Given the description of an element on the screen output the (x, y) to click on. 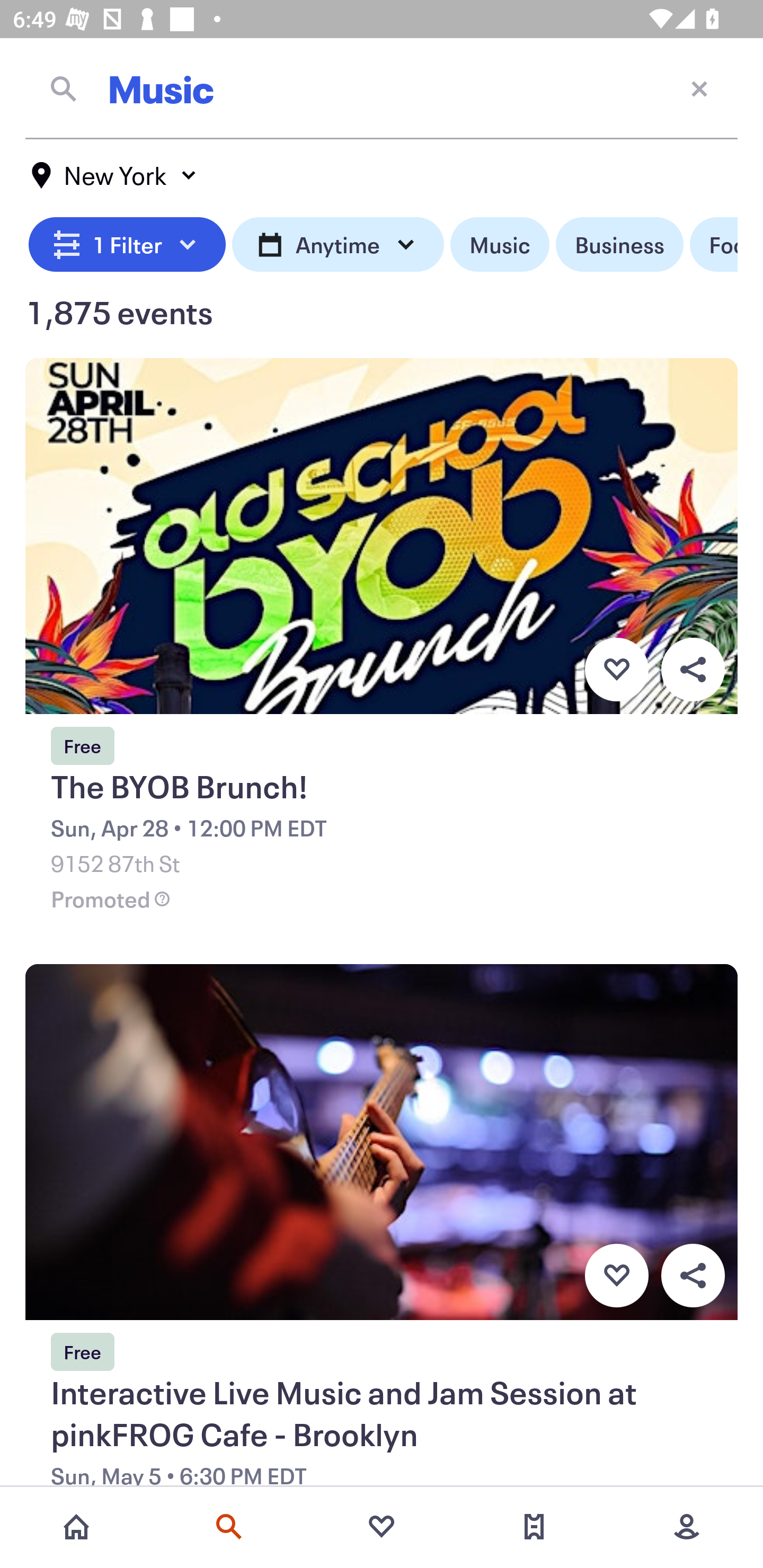
Music Close current screen (381, 88)
Close current screen (699, 88)
New York (114, 175)
1 Filter (126, 244)
Anytime (337, 244)
Music (499, 244)
Business (619, 244)
Favorite button (616, 669)
Overflow menu button (692, 669)
Favorite button (616, 1275)
Overflow menu button (692, 1275)
Home (76, 1526)
Search events (228, 1526)
Favorites (381, 1526)
Tickets (533, 1526)
More (686, 1526)
